Given the description of an element on the screen output the (x, y) to click on. 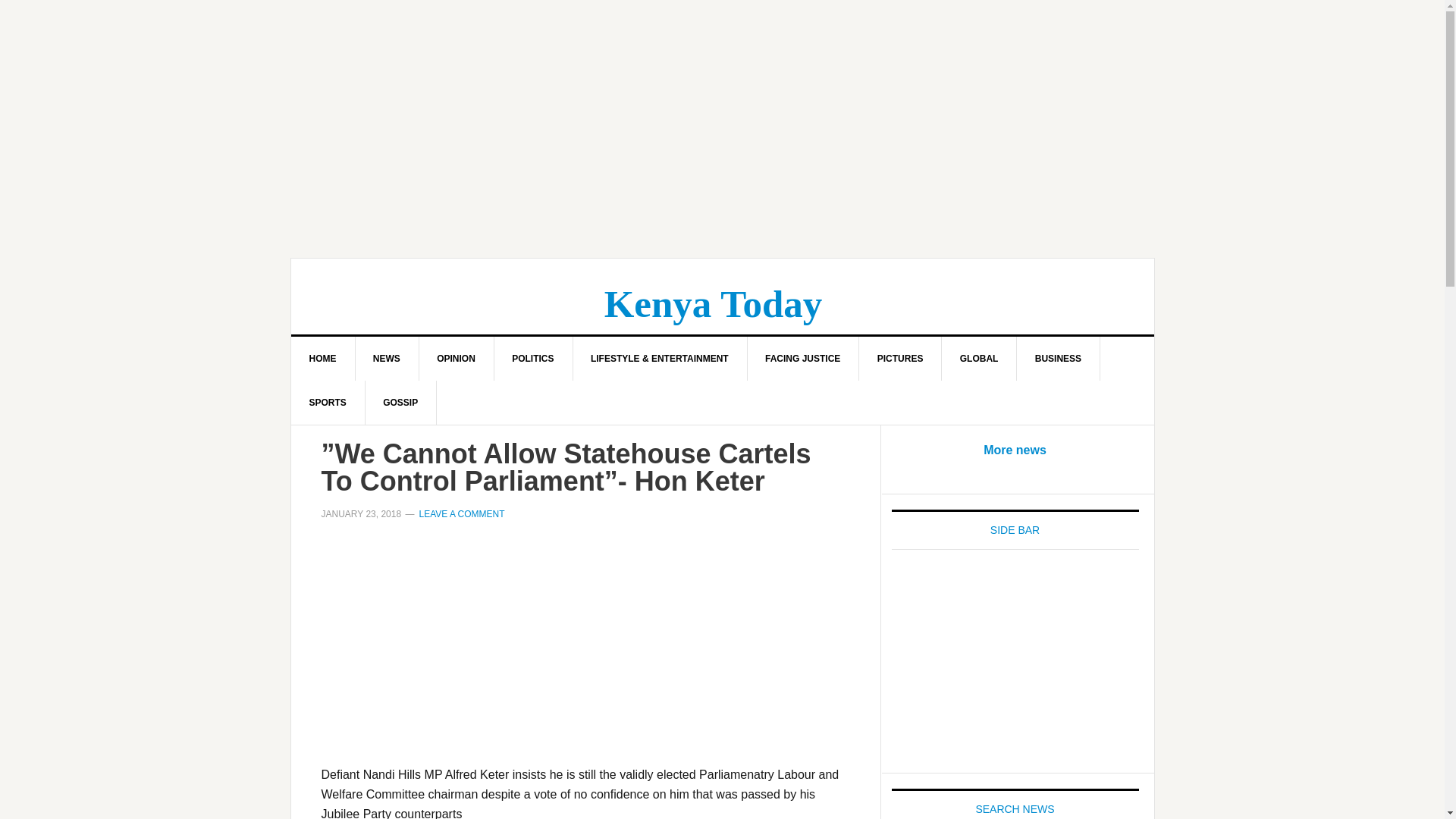
GLOBAL (979, 358)
BUSINESS (1058, 358)
Advertisement (1014, 662)
FACING JUSTICE (802, 358)
HOME (323, 358)
PICTURES (900, 358)
LEAVE A COMMENT (461, 513)
OPINION (457, 358)
SPORTS (328, 402)
Kenya Today (713, 303)
Advertisement (585, 652)
GOSSIP (400, 402)
POLITICS (532, 358)
More news (1015, 449)
